Given the description of an element on the screen output the (x, y) to click on. 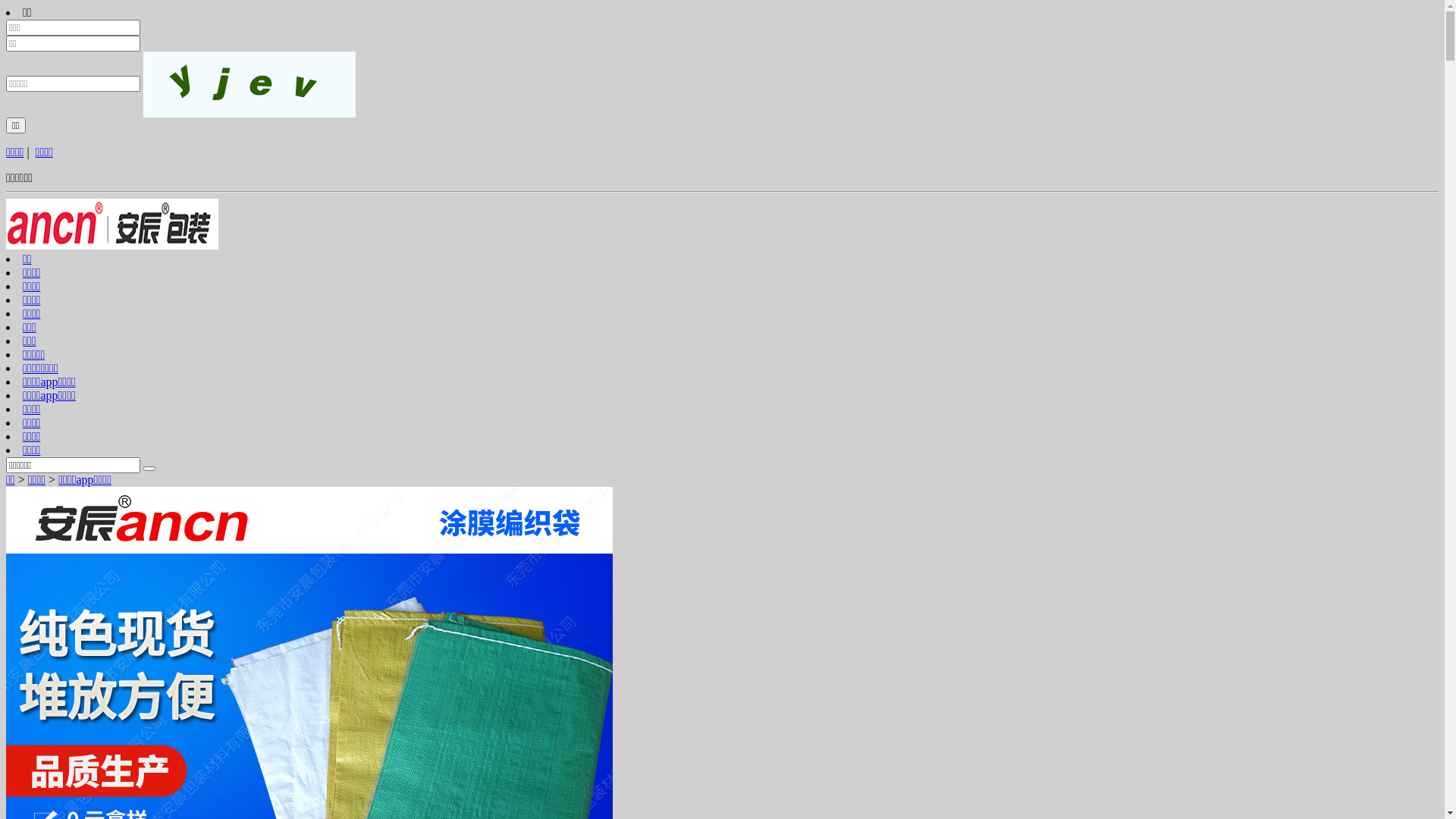
Search Element type: text (149, 468)
